Given the description of an element on the screen output the (x, y) to click on. 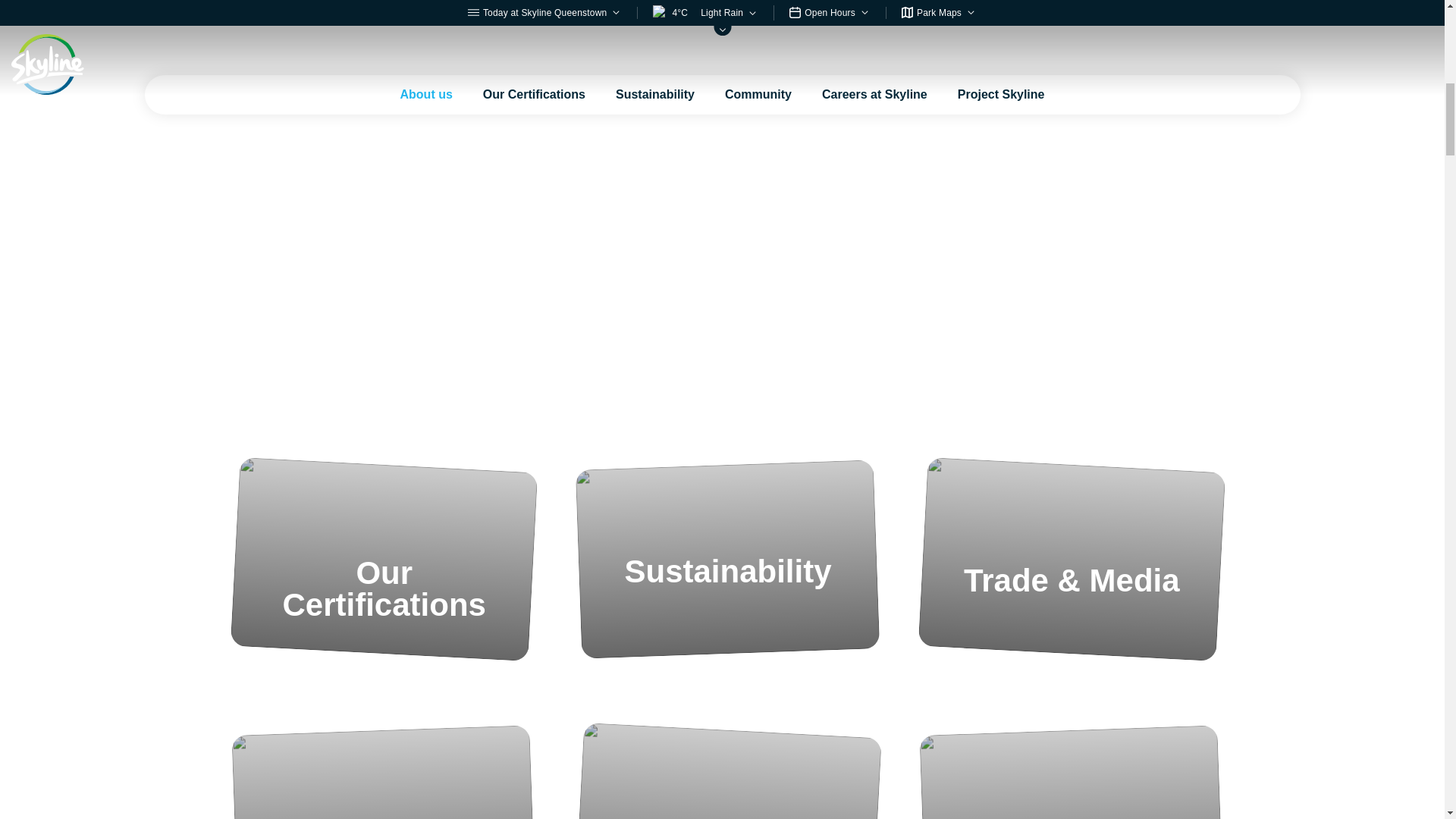
Community (727, 774)
Community (758, 16)
About us (426, 16)
Sustainability (654, 16)
Project Skyline (1000, 16)
Careers at Skyline (874, 16)
Our Certifications (383, 559)
Our Certifications (533, 16)
Careers (383, 774)
Sustainability (727, 559)
